Given the description of an element on the screen output the (x, y) to click on. 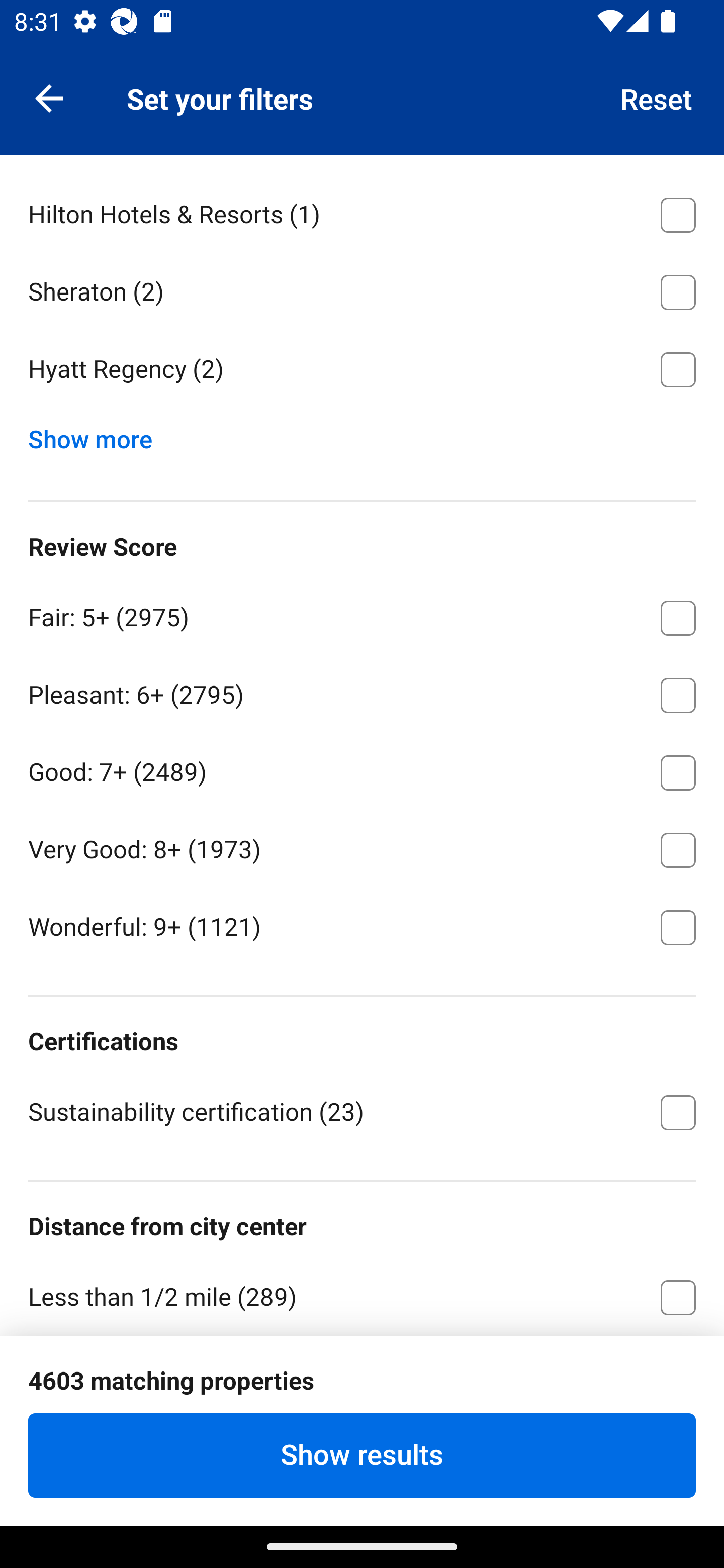
Navigate up (49, 97)
Reset (656, 97)
Hilton Hotels & Resorts ⁦(1) (361, 211)
Sheraton ⁦(2) (361, 288)
Hyatt Regency ⁦(2) (361, 369)
Show more (97, 434)
Fair: 5+ ⁦(2975) (361, 614)
Pleasant: 6+ ⁦(2795) (361, 691)
Good: 7+ ⁦(2489) (361, 768)
Very Good: 8+ ⁦(1973) (361, 846)
Wonderful: 9+ ⁦(1121) (361, 925)
Sustainability certification ⁦(23) (361, 1110)
Less than 1/2 mile ⁦(289) (361, 1293)
